Given the description of an element on the screen output the (x, y) to click on. 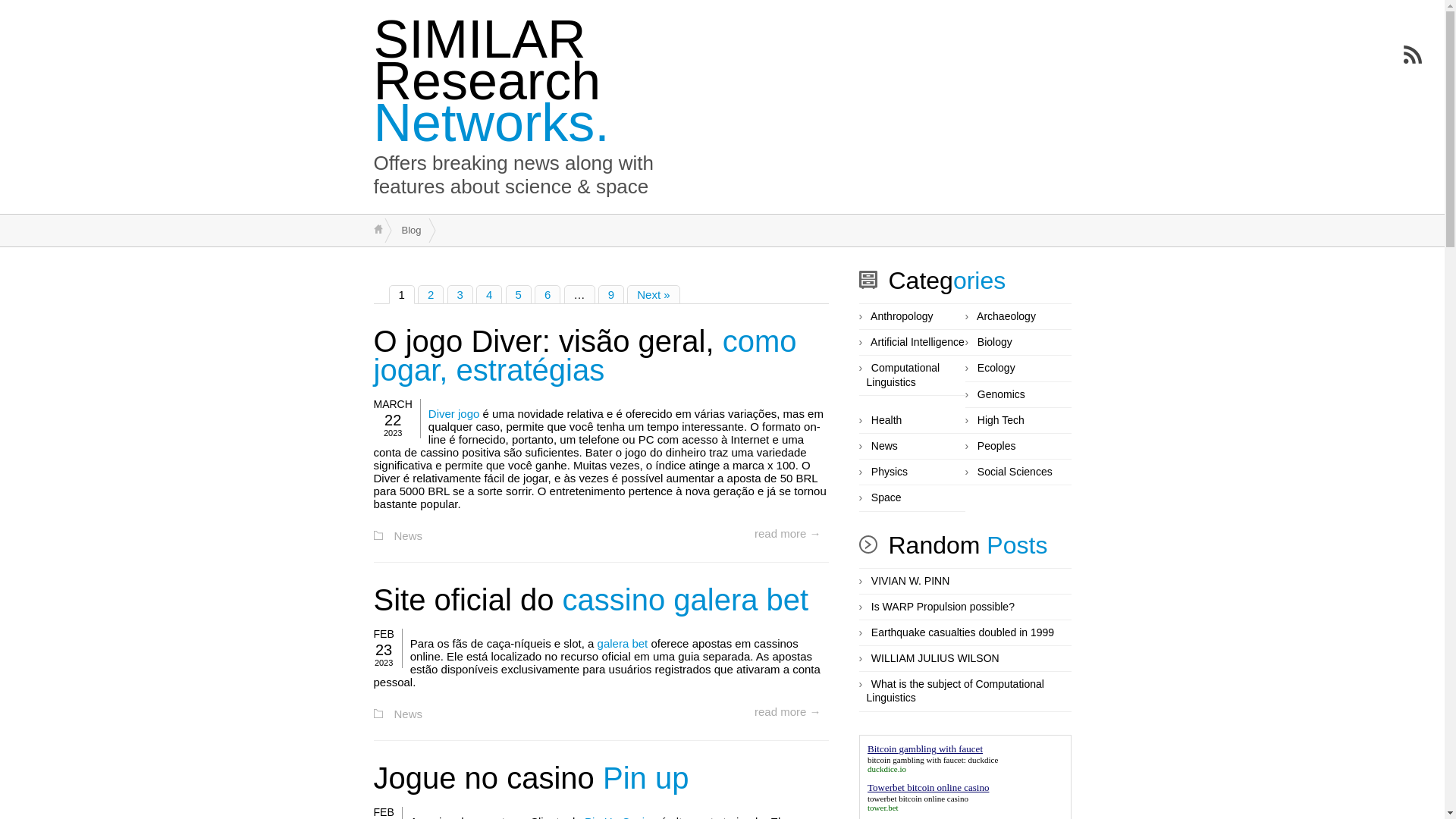
Diver jogo Element type: text (454, 414)
High Tech Element type: text (1000, 420)
Earthquake casualties doubled in 1999 Element type: text (962, 633)
Space Element type: text (886, 498)
5 Element type: text (518, 294)
Is WARP Propulsion possible? Element type: text (942, 607)
Jogue no casino Pin up Element type: text (530, 777)
6 Element type: text (547, 294)
Biology Element type: text (994, 342)
WILLIAM JULIUS WILSON Element type: text (935, 658)
Artificial Intelligence Element type: text (917, 342)
Towerbet bitcoin online casino Element type: text (927, 787)
towerbet bitcoin online casino Element type: text (917, 798)
Subscribe to RSS Feed Element type: hover (1412, 54)
3 Element type: text (460, 294)
Site oficial do cassino galera bet Element type: text (590, 599)
bitcoin gambling with faucet: duckdice Element type: text (932, 759)
News Element type: text (408, 536)
Genomics Element type: text (1001, 394)
Anthropology Element type: text (901, 316)
SIMILAR Research Networks. Element type: text (490, 80)
News Element type: text (884, 446)
Computational Linguistics Element type: text (902, 375)
What is the subject of Computational Linguistics Element type: text (954, 691)
VIVIAN W. PINN Element type: text (910, 581)
  Element type: text (377, 228)
Peoples Element type: text (996, 446)
Health Element type: text (886, 420)
2 Element type: text (430, 294)
9 Element type: text (611, 294)
duckdice.io Element type: text (886, 768)
News Element type: text (408, 714)
4 Element type: text (489, 294)
Ecology Element type: text (996, 368)
Social Sciences Element type: text (1014, 472)
tower.bet Element type: text (882, 807)
galera bet Element type: text (622, 644)
Archaeology Element type: text (1005, 316)
Bitcoin gambling with faucet Element type: text (924, 748)
Physics Element type: text (889, 472)
